Given the description of an element on the screen output the (x, y) to click on. 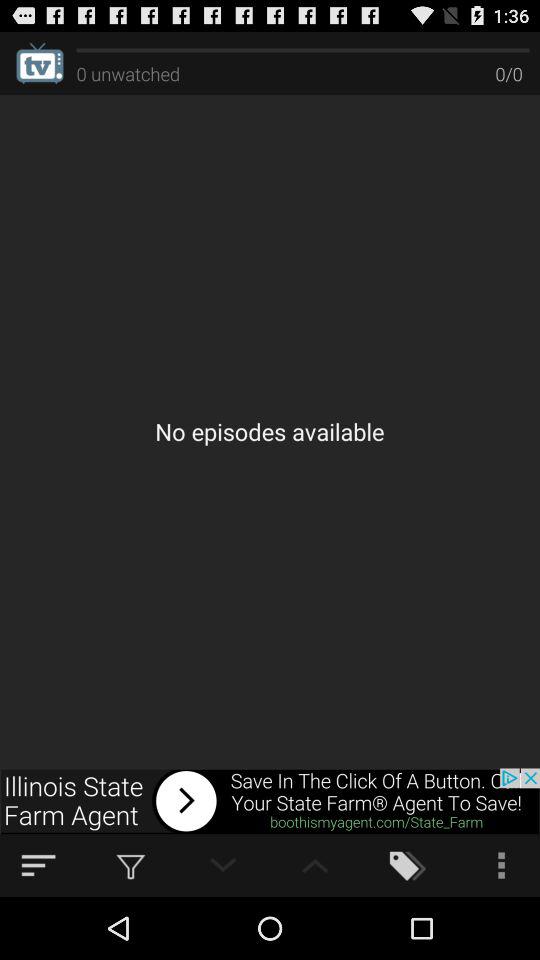
open advertisement (270, 801)
